Given the description of an element on the screen output the (x, y) to click on. 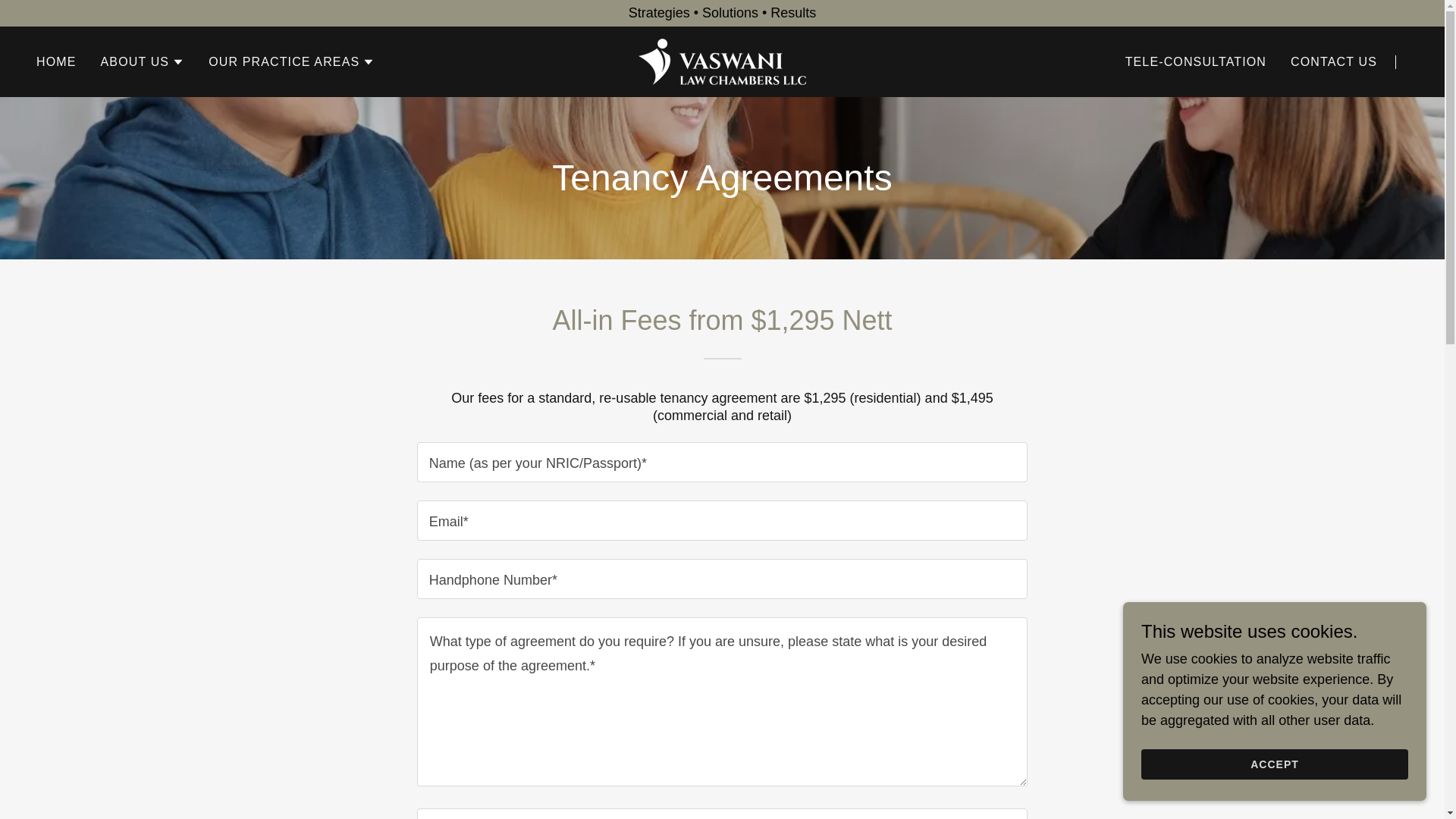
Vaswani Law Chambers LLC (722, 60)
CONTACT US (1333, 62)
OUR PRACTICE AREAS (291, 62)
TELE-CONSULTATION (1196, 62)
HOME (56, 62)
ABOUT US (142, 62)
